Given the description of an element on the screen output the (x, y) to click on. 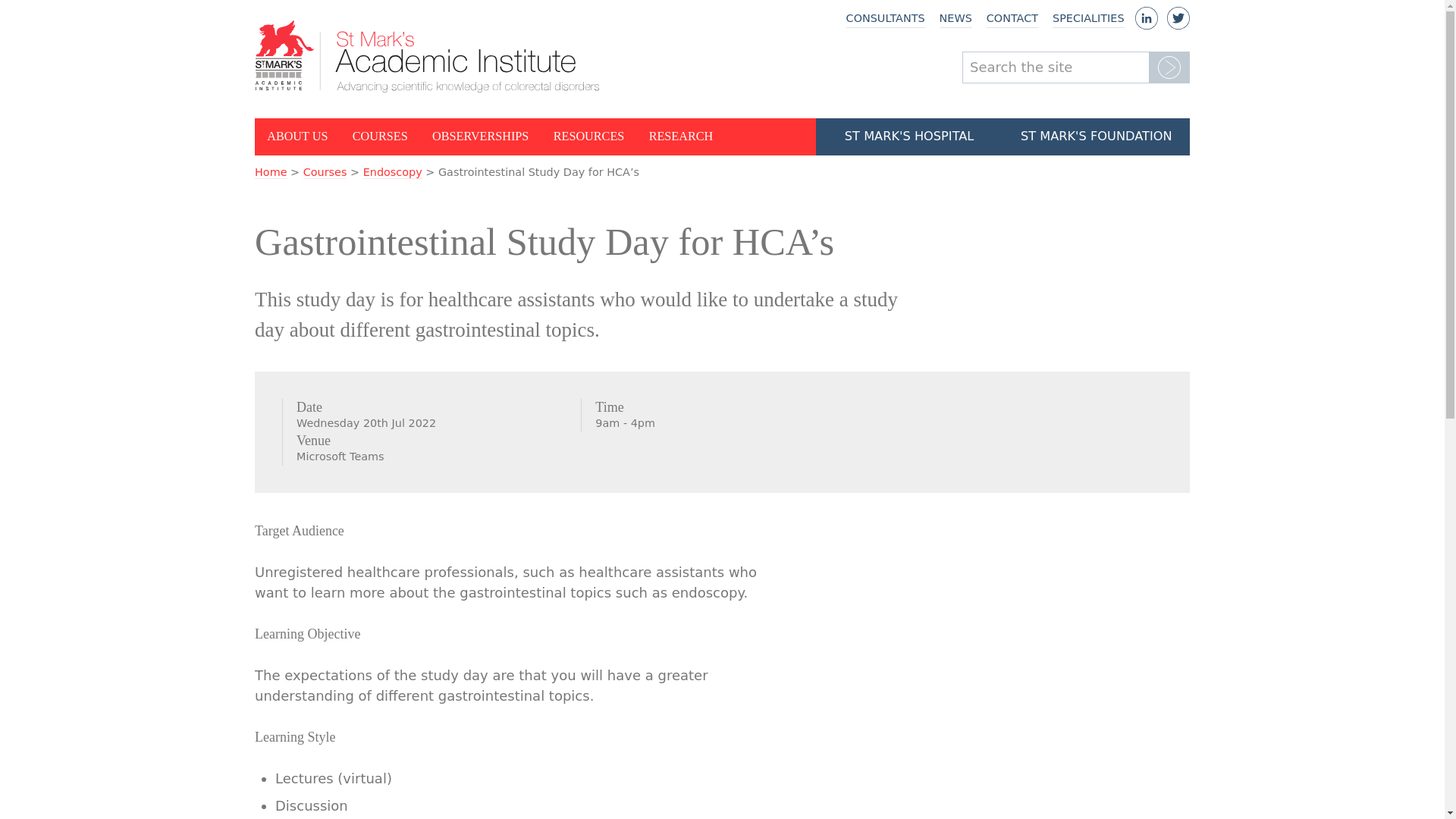
ABOUT US (297, 136)
CONTACT (1012, 18)
Go to St Marks Academic Institute. (270, 172)
St Mark's Academic Institute (426, 56)
RESOURCES (589, 136)
Home (270, 172)
NEWS (955, 18)
COURSES (380, 136)
Submit (1168, 67)
Follow us on Twitter (1178, 24)
